Given the description of an element on the screen output the (x, y) to click on. 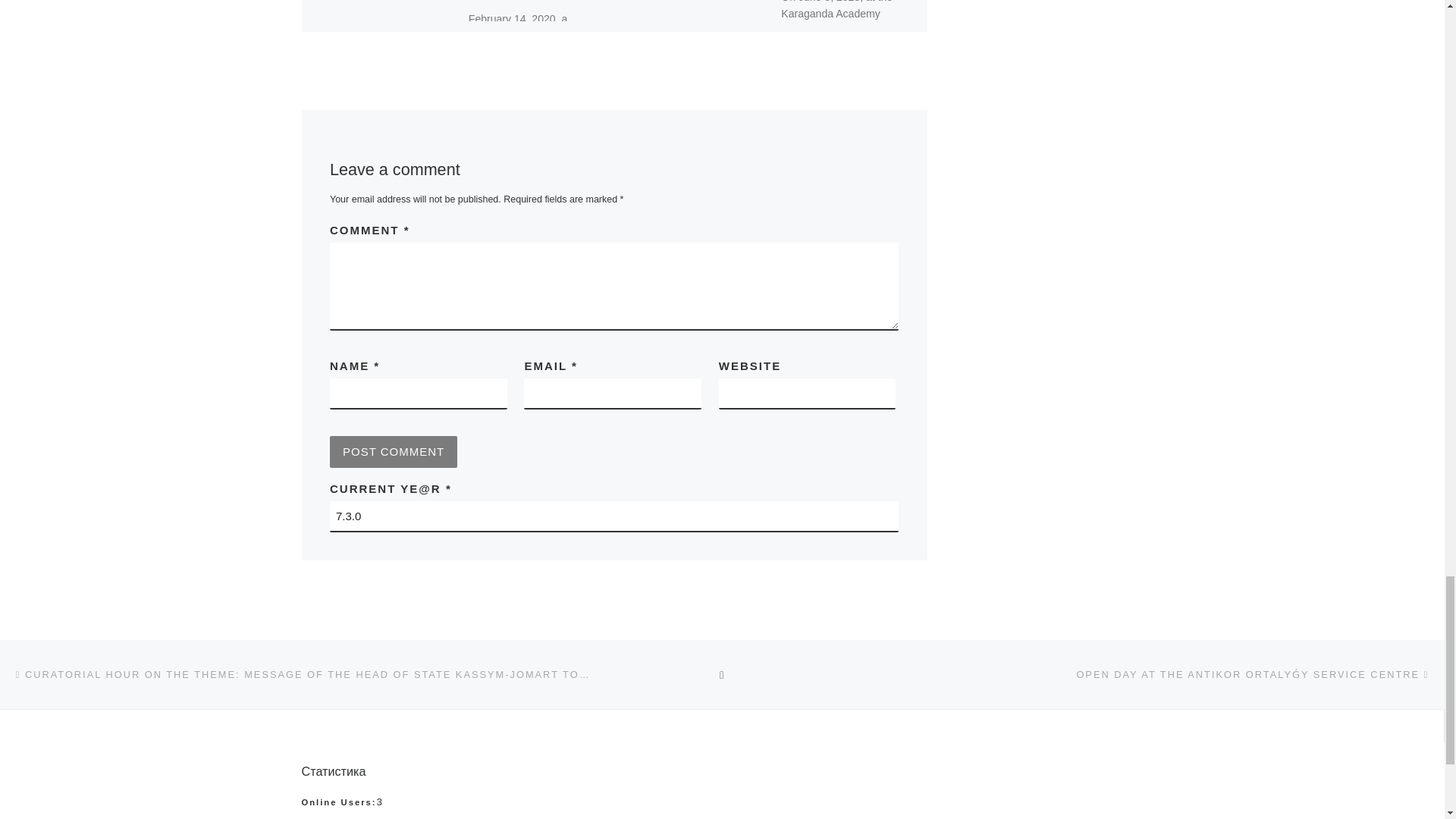
Post Comment (393, 451)
7.3.0 (614, 516)
